Given the description of an element on the screen output the (x, y) to click on. 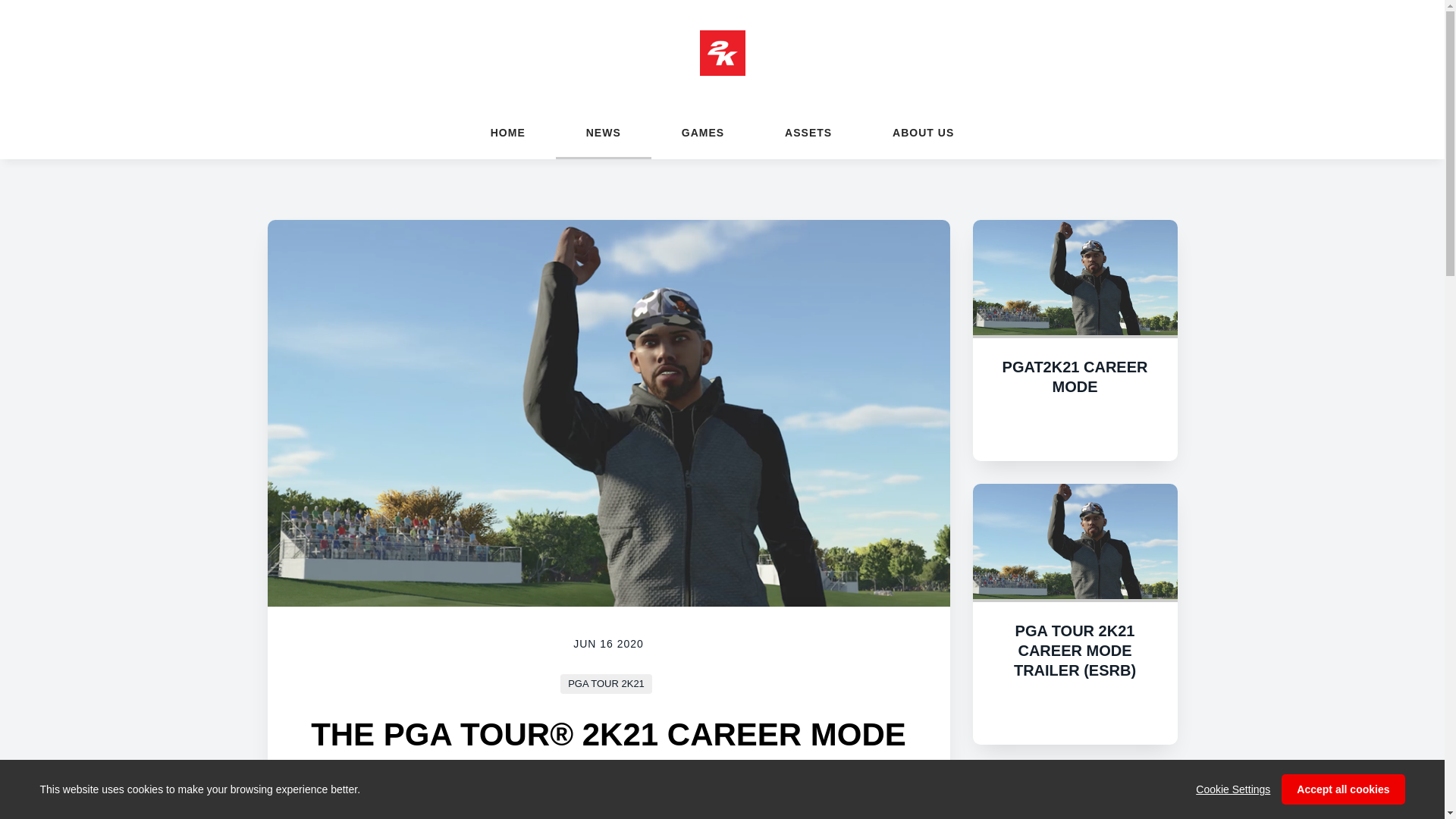
PGA TOUR 2K21 (606, 682)
NEWS (603, 132)
ABOUT US (922, 132)
OPEN LINK (1074, 710)
Cookie Settings (1232, 788)
HOME (508, 132)
GAMES (702, 132)
ASSETS (807, 132)
PGAT2K21 CAREER MODE (1075, 376)
Accept all cookies (1343, 788)
DOWNLOAD (1074, 426)
